Given the description of an element on the screen output the (x, y) to click on. 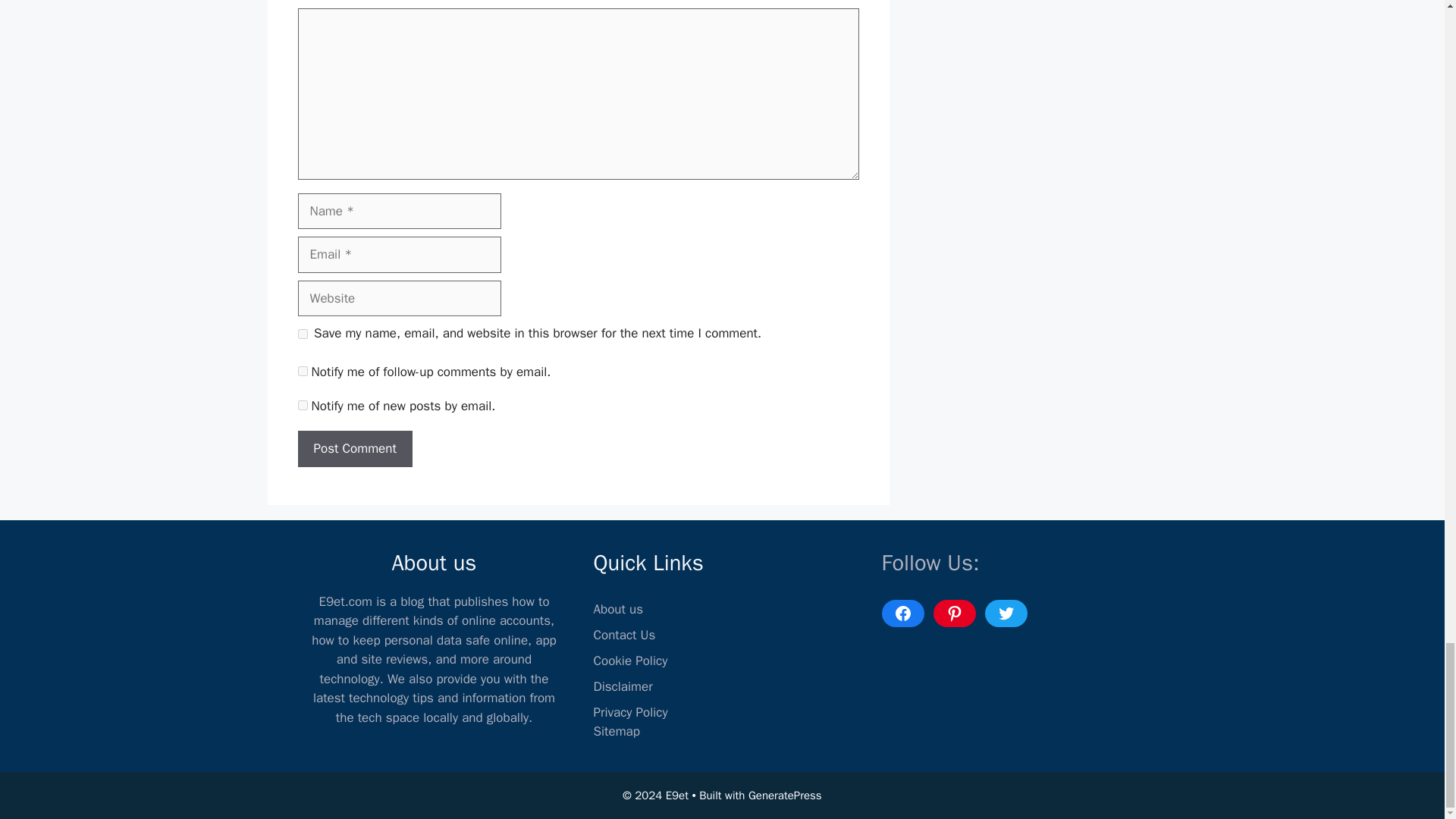
About us (617, 609)
Sitemap (615, 731)
yes (302, 334)
Post Comment (354, 448)
Privacy Policy (629, 712)
Pinterest (954, 613)
Cookie Policy (629, 660)
Post Comment (354, 448)
subscribe (302, 405)
Twitter (1005, 613)
Disclaimer (622, 686)
Facebook (901, 613)
subscribe (302, 370)
Contact Us (623, 634)
